Given the description of an element on the screen output the (x, y) to click on. 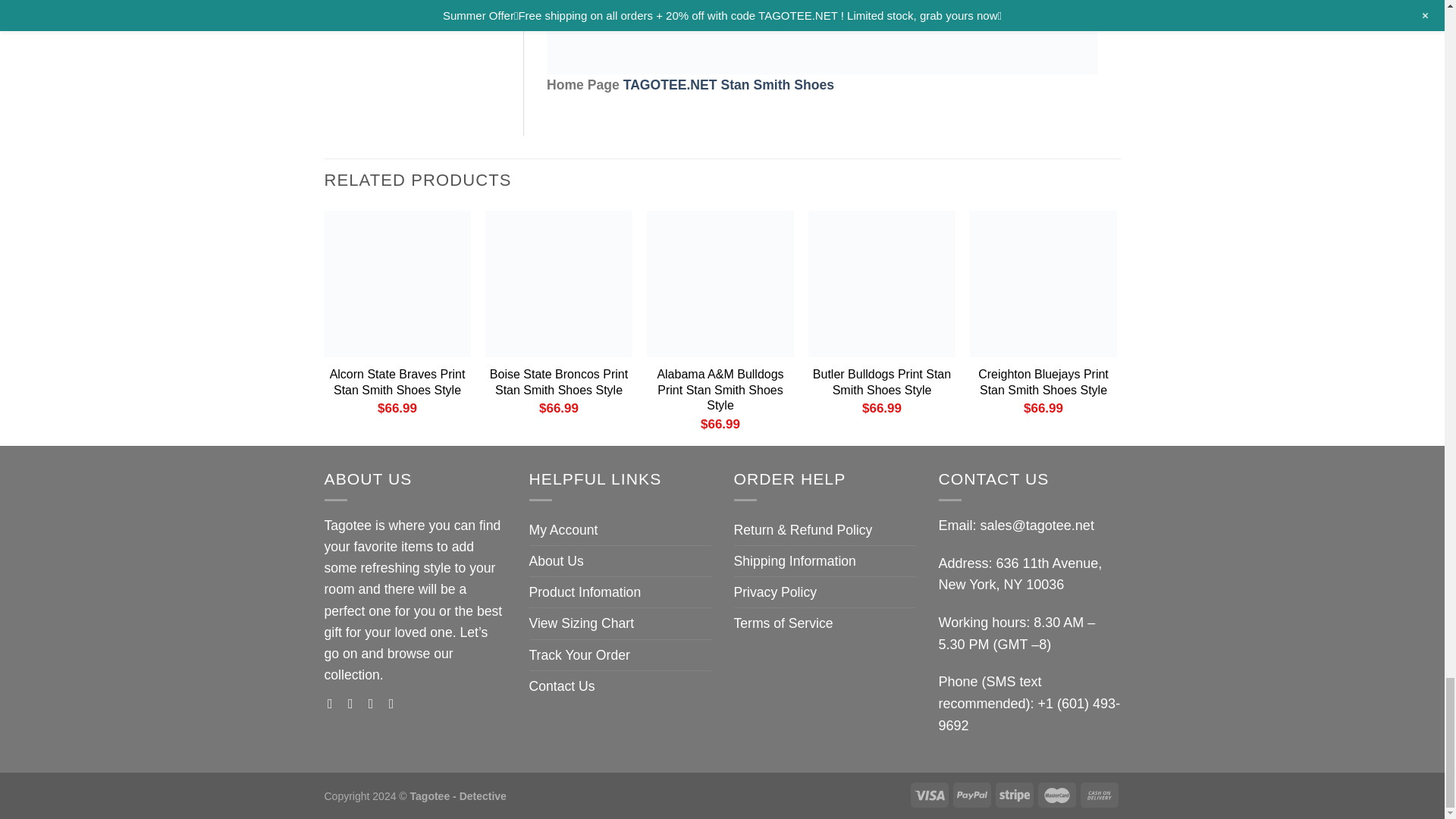
Follow on Pinterest (395, 703)
Follow on Instagram (354, 703)
Follow on Facebook (333, 703)
Follow on Twitter (374, 703)
